Given the description of an element on the screen output the (x, y) to click on. 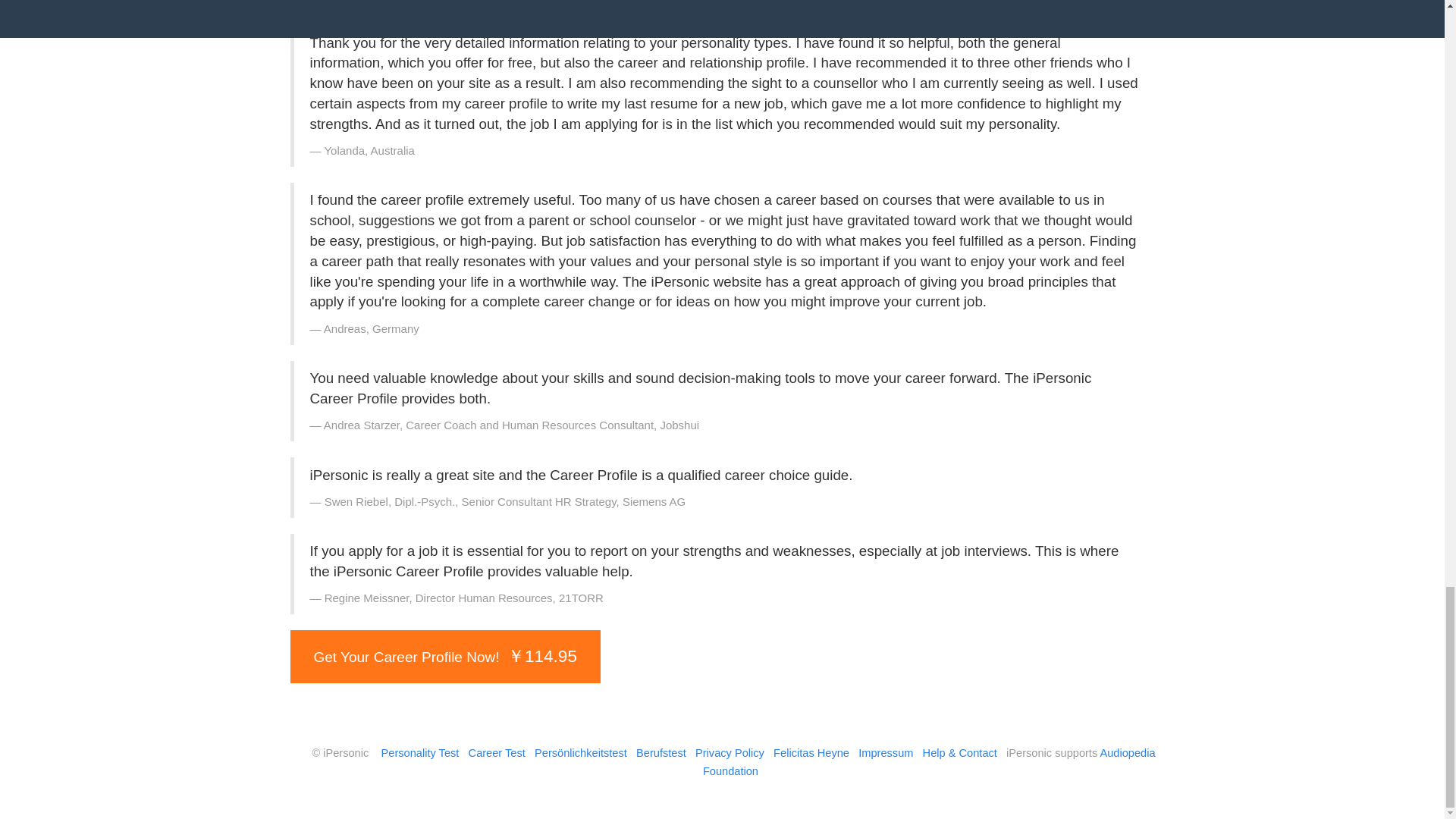
Career Test (496, 752)
iPersonic Berufstest (660, 752)
Impressum (885, 752)
Felicitas Heyne (810, 752)
Diplom-Psychologin Felicitas Heyne (810, 752)
Free Personality Test (420, 752)
Free Career Test (496, 752)
Audiopedia Foundation (929, 761)
Impressum (885, 752)
Berufstest (660, 752)
iPersonic Support (960, 752)
Audiopedia is leading the Women's Empowerment Revolution (929, 761)
Personality Test (420, 752)
Privacy Policy (729, 752)
iPersonic Privacy Policy (729, 752)
